Given the description of an element on the screen output the (x, y) to click on. 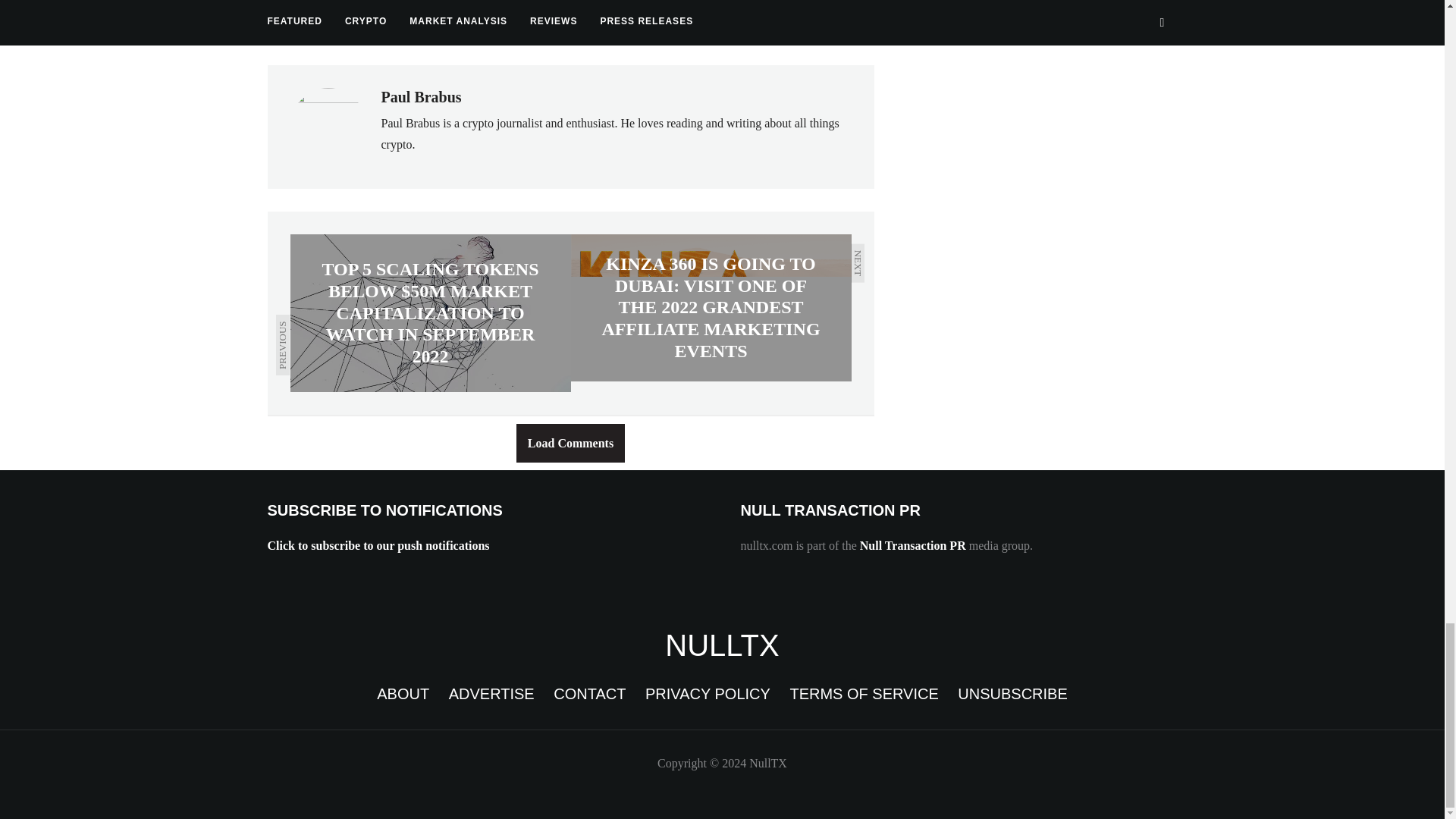
Ethereum (375, 25)
Paul Brabus (420, 96)
Cryptocurrency News (721, 644)
bitcoin (297, 25)
Posts by Paul Brabus (420, 96)
SEC (448, 25)
Stocks (514, 25)
